Given the description of an element on the screen output the (x, y) to click on. 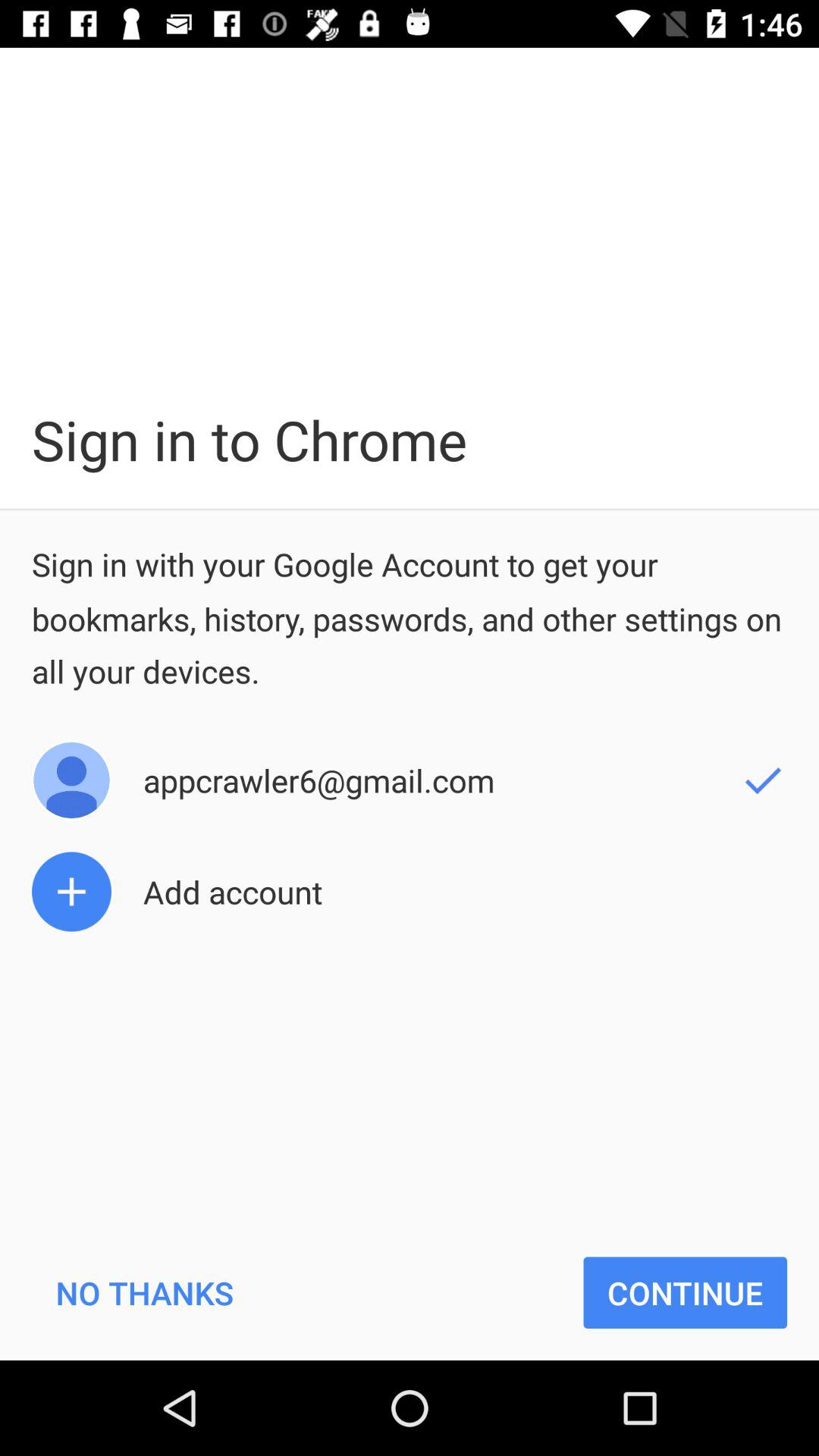
tap the no thanks (144, 1292)
